Given the description of an element on the screen output the (x, y) to click on. 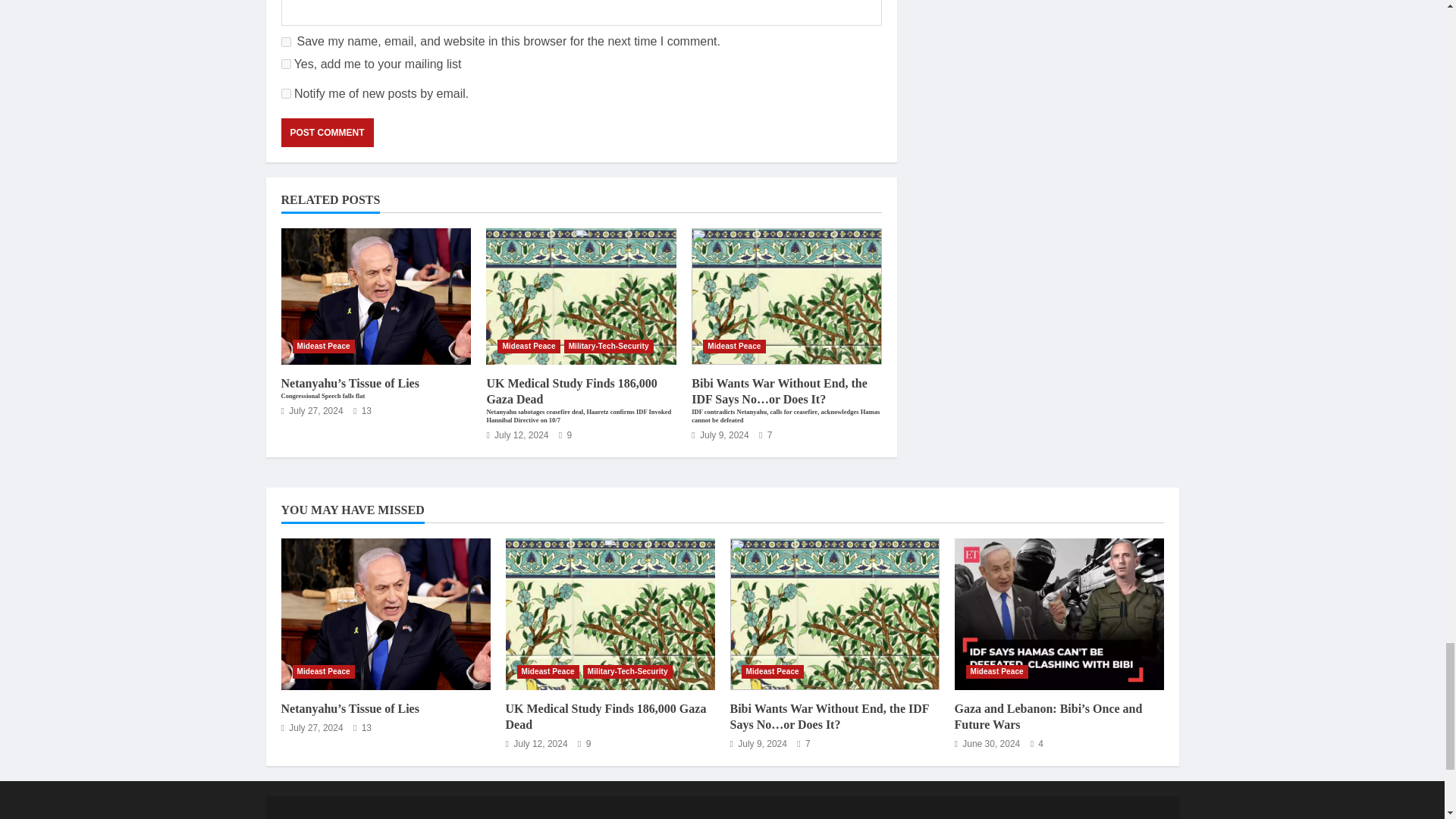
subscribe (285, 93)
yes (285, 41)
1 (285, 63)
Post Comment (326, 132)
